Given the description of an element on the screen output the (x, y) to click on. 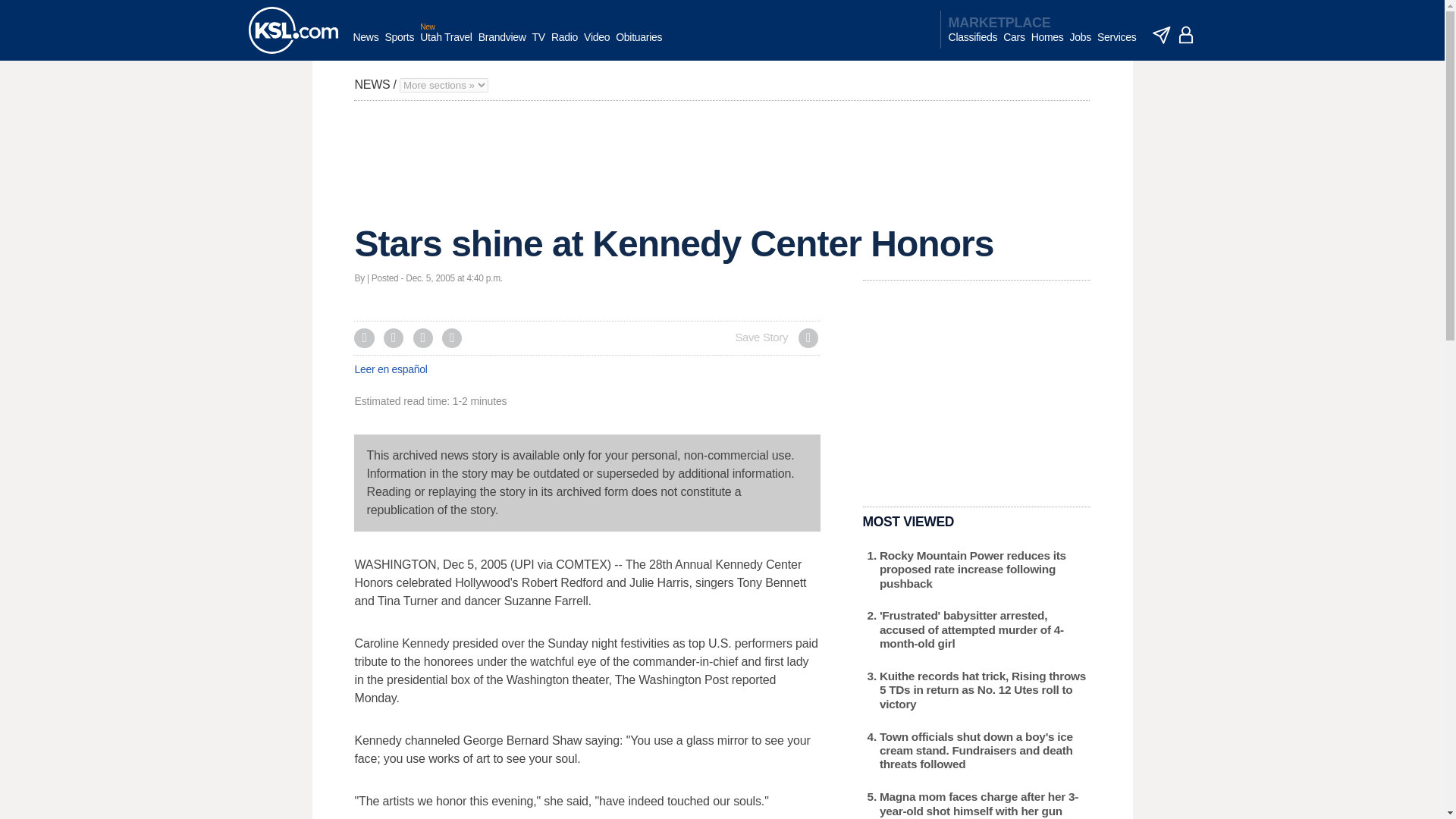
Utah Travel (445, 45)
KSL homepage (292, 30)
KSL homepage (292, 29)
Sports (398, 45)
Brandview (502, 45)
account - logged out (1185, 34)
